Given the description of an element on the screen output the (x, y) to click on. 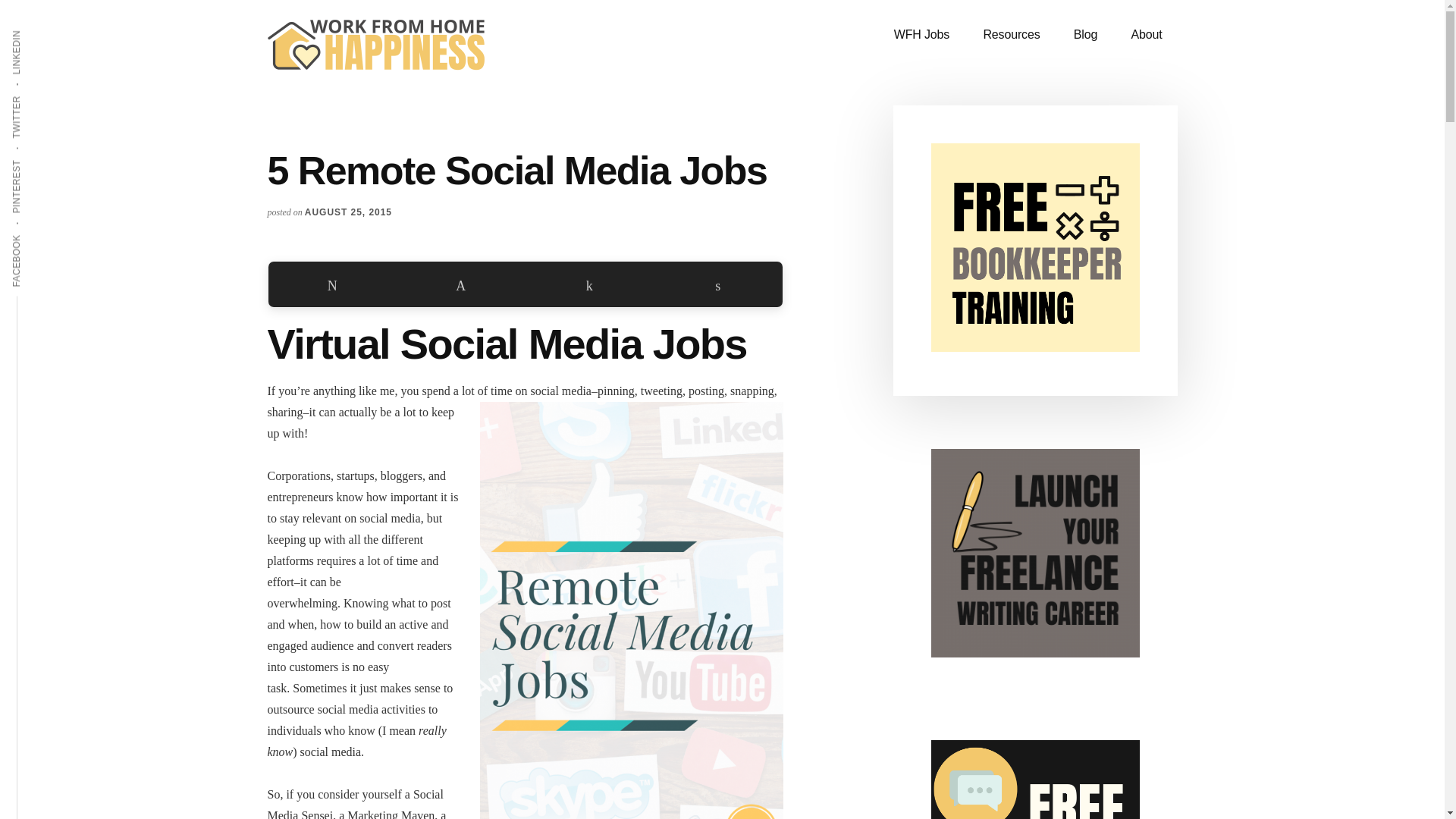
About (1145, 34)
LINKEDIN (39, 28)
WFH Jobs (921, 34)
Resources (1011, 34)
TWITTER (38, 94)
FACEBOOK (44, 233)
Blog (1085, 34)
PINTEREST (44, 158)
